Given the description of an element on the screen output the (x, y) to click on. 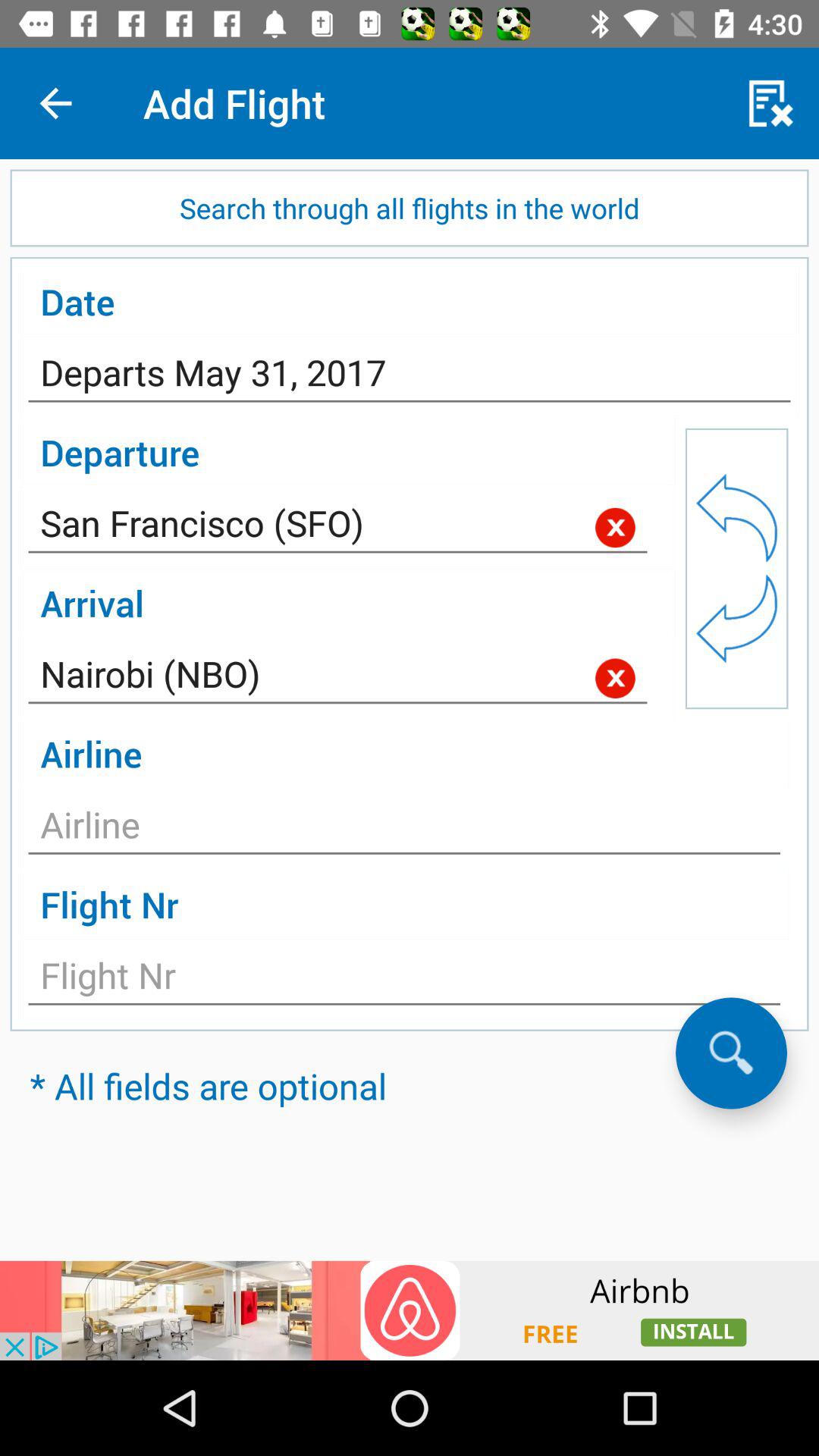
type flight nr (404, 979)
